Given the description of an element on the screen output the (x, y) to click on. 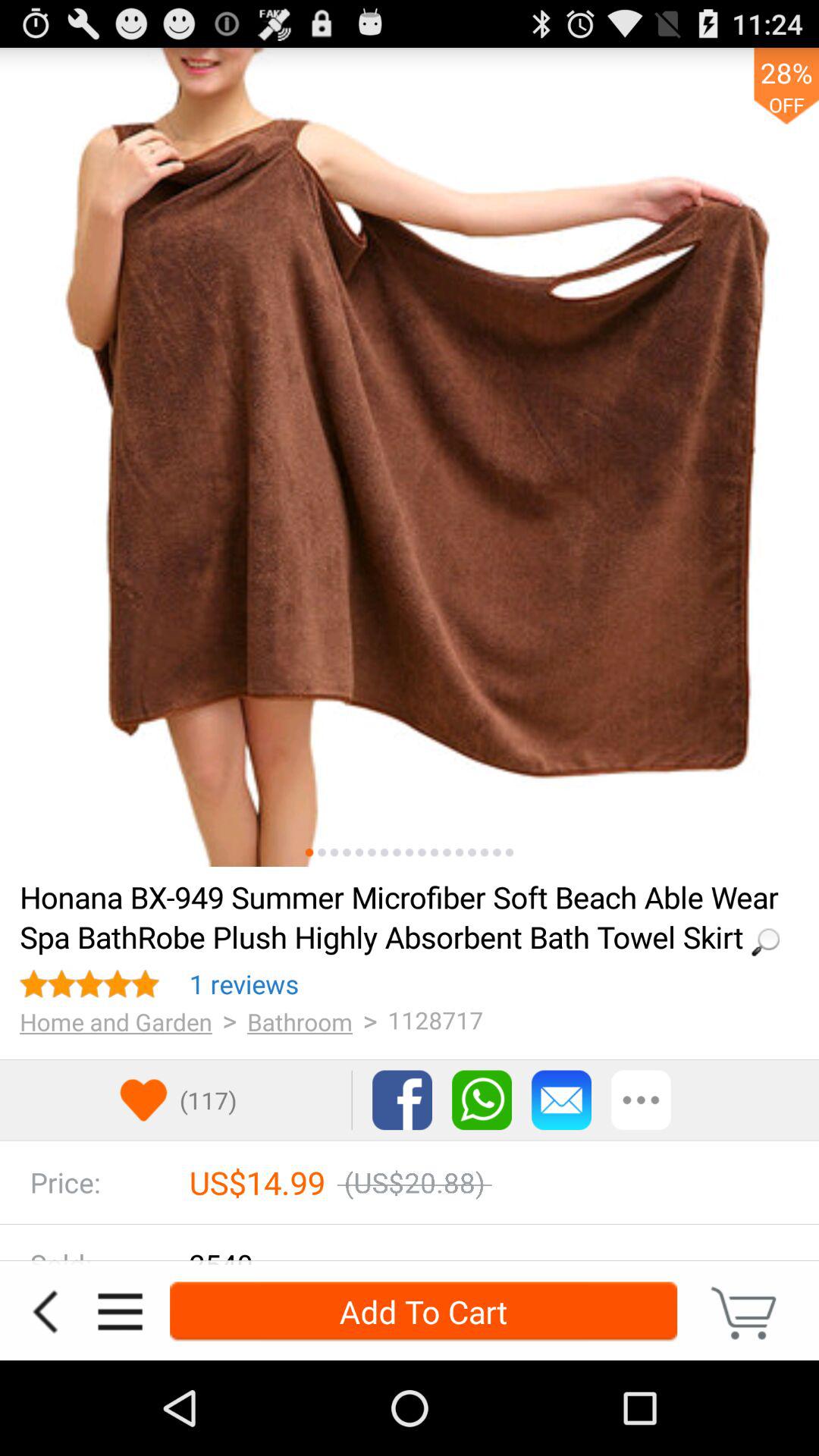
send email (561, 1100)
